Given the description of an element on the screen output the (x, y) to click on. 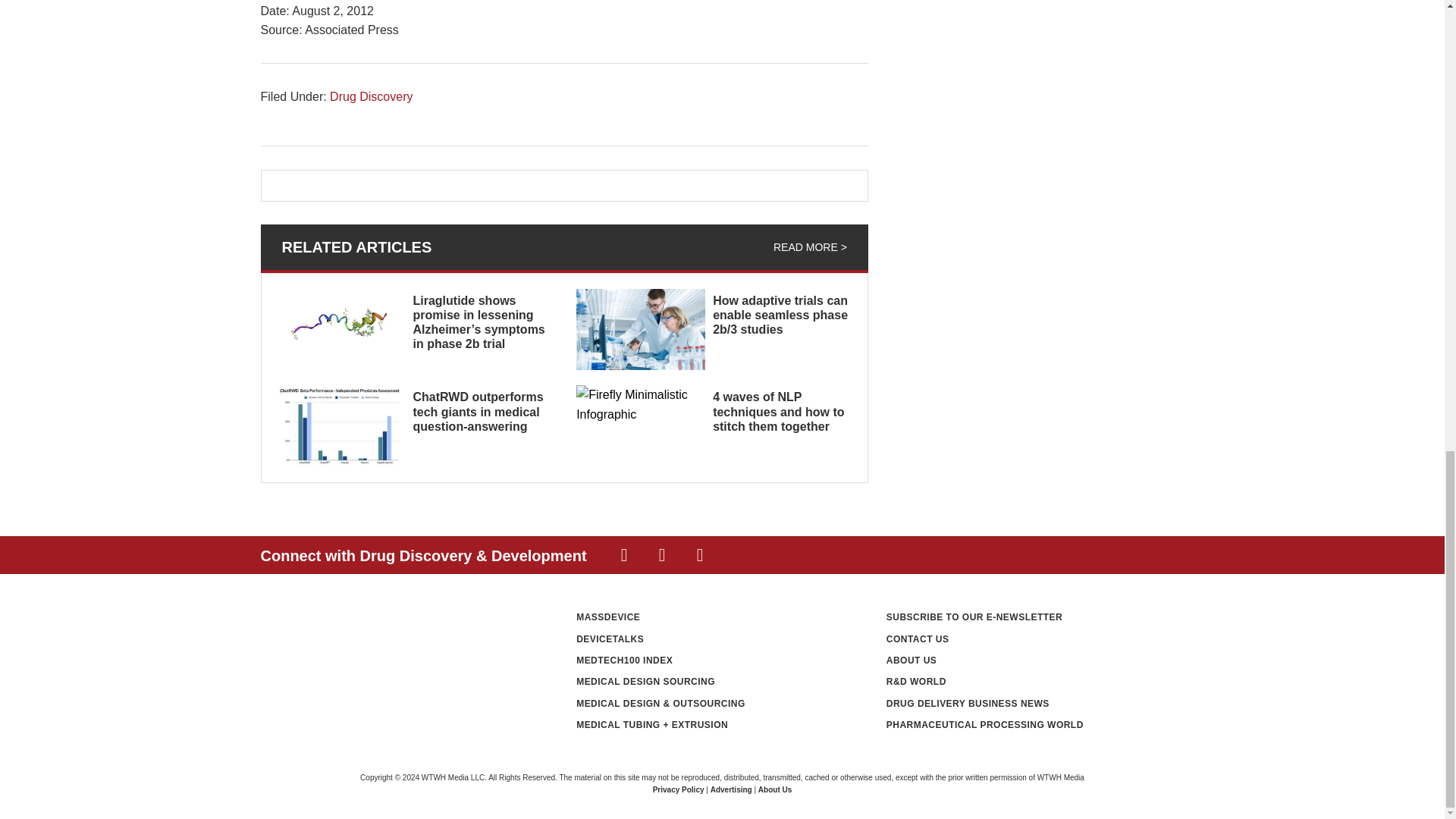
4 waves of NLP techniques and how to stitch them together (778, 411)
Drug Discovery (371, 96)
